Given the description of an element on the screen output the (x, y) to click on. 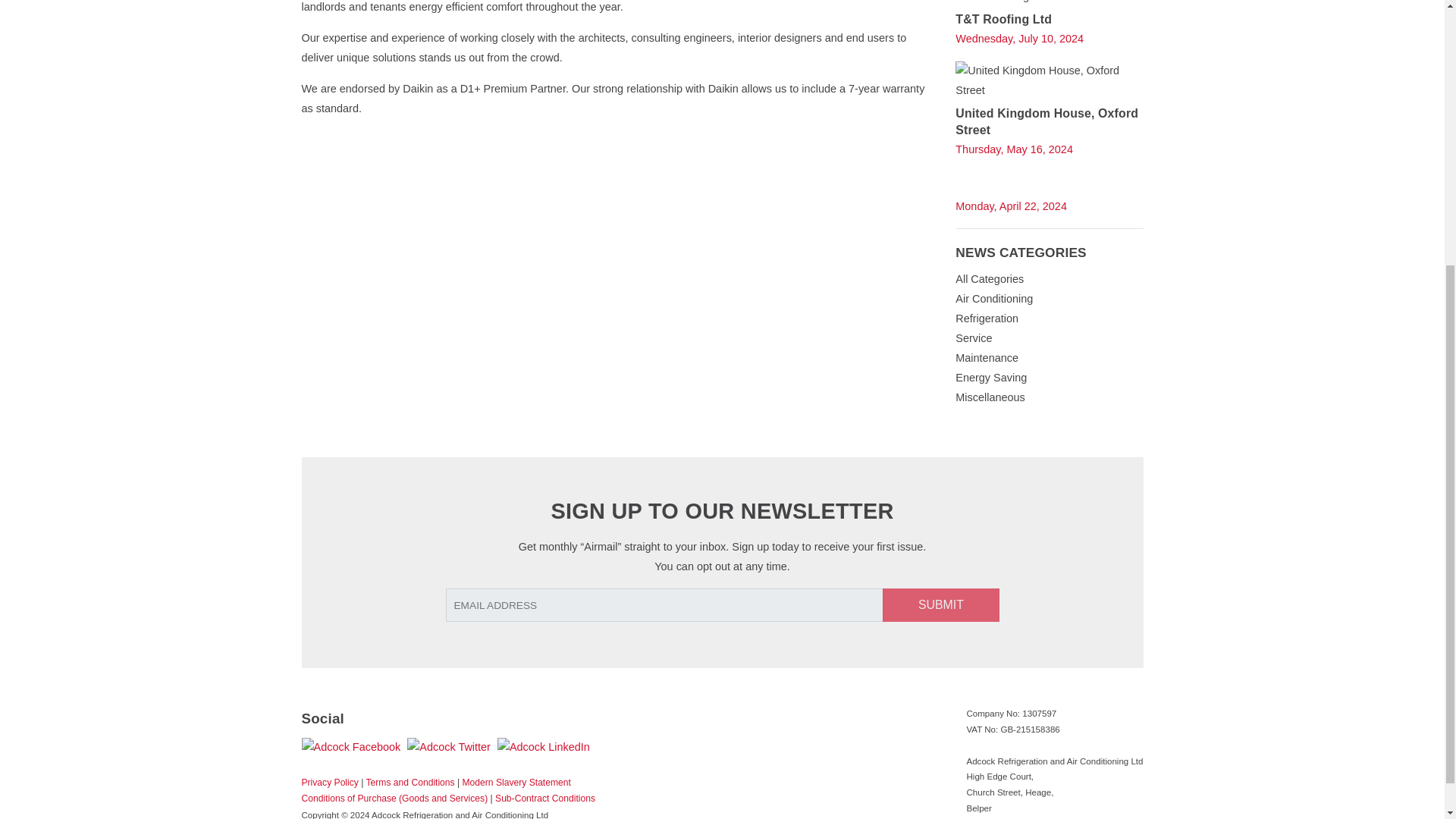
United Kingdom House, Oxford Street (1048, 80)
SUBMIT (940, 605)
Modern Slavery Statement (516, 782)
Terms and Conditions (410, 782)
All Categories (989, 278)
Energy Saving (990, 377)
United Kingdom House, Oxford Street (1046, 120)
United Kingdom House, Oxford Street (1046, 120)
Air Conditioning (993, 298)
Miscellaneous (990, 397)
